Given the description of an element on the screen output the (x, y) to click on. 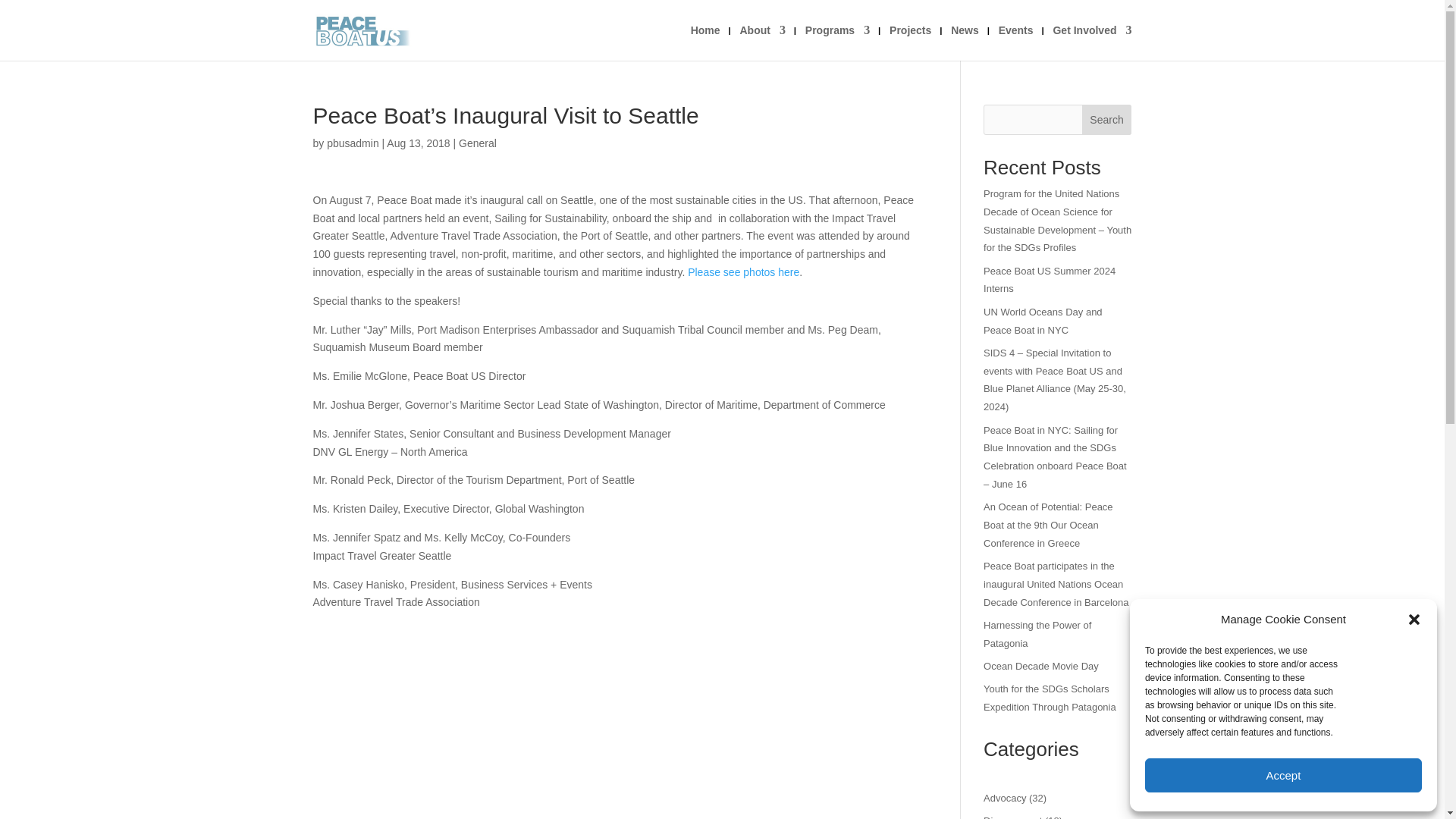
Programs (837, 42)
Get Involved (1091, 42)
About (761, 42)
Posts by pbusadmin (352, 143)
Events (1015, 42)
Projects (910, 42)
Accept (1283, 775)
